Given the description of an element on the screen output the (x, y) to click on. 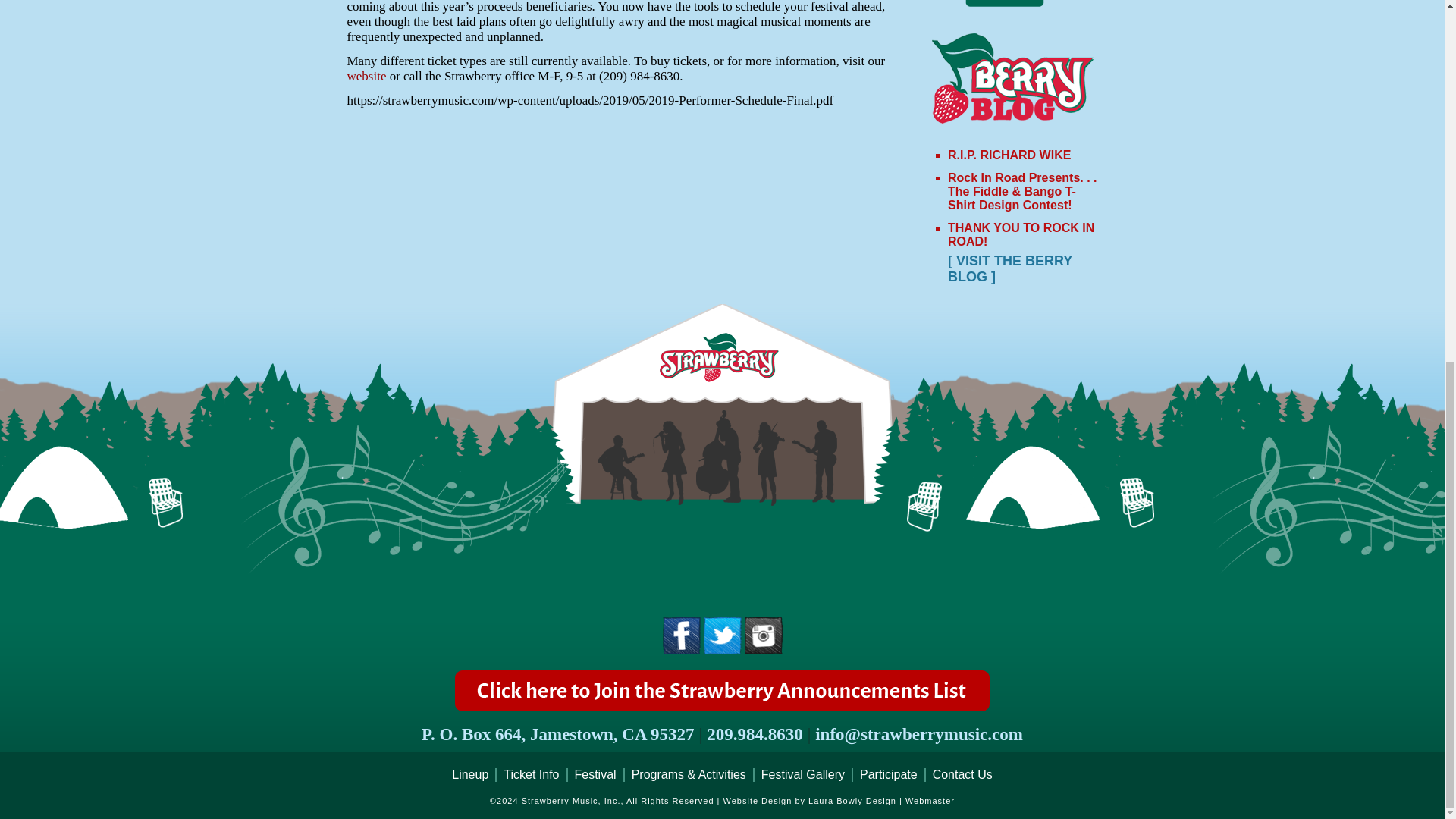
THANK YOU TO ROCK IN ROAD! (1020, 234)
facebook (681, 652)
twitter (721, 652)
instagram (763, 635)
facebook (681, 635)
instagram (763, 652)
R.I.P. RICHARD WIKE (1008, 154)
website (367, 75)
twitter (722, 635)
